Given the description of an element on the screen output the (x, y) to click on. 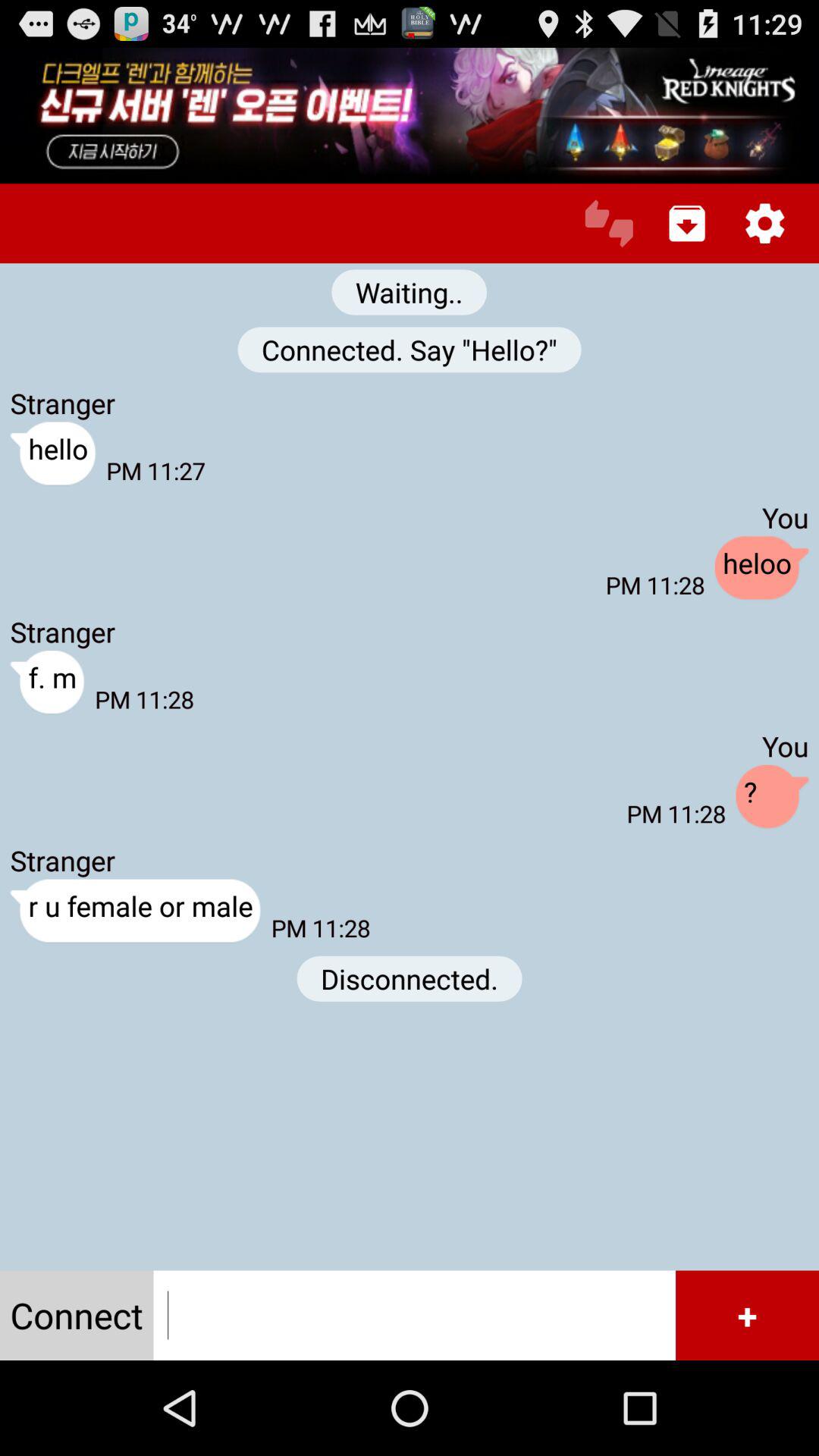
flip to the ? app (771, 796)
